Given the description of an element on the screen output the (x, y) to click on. 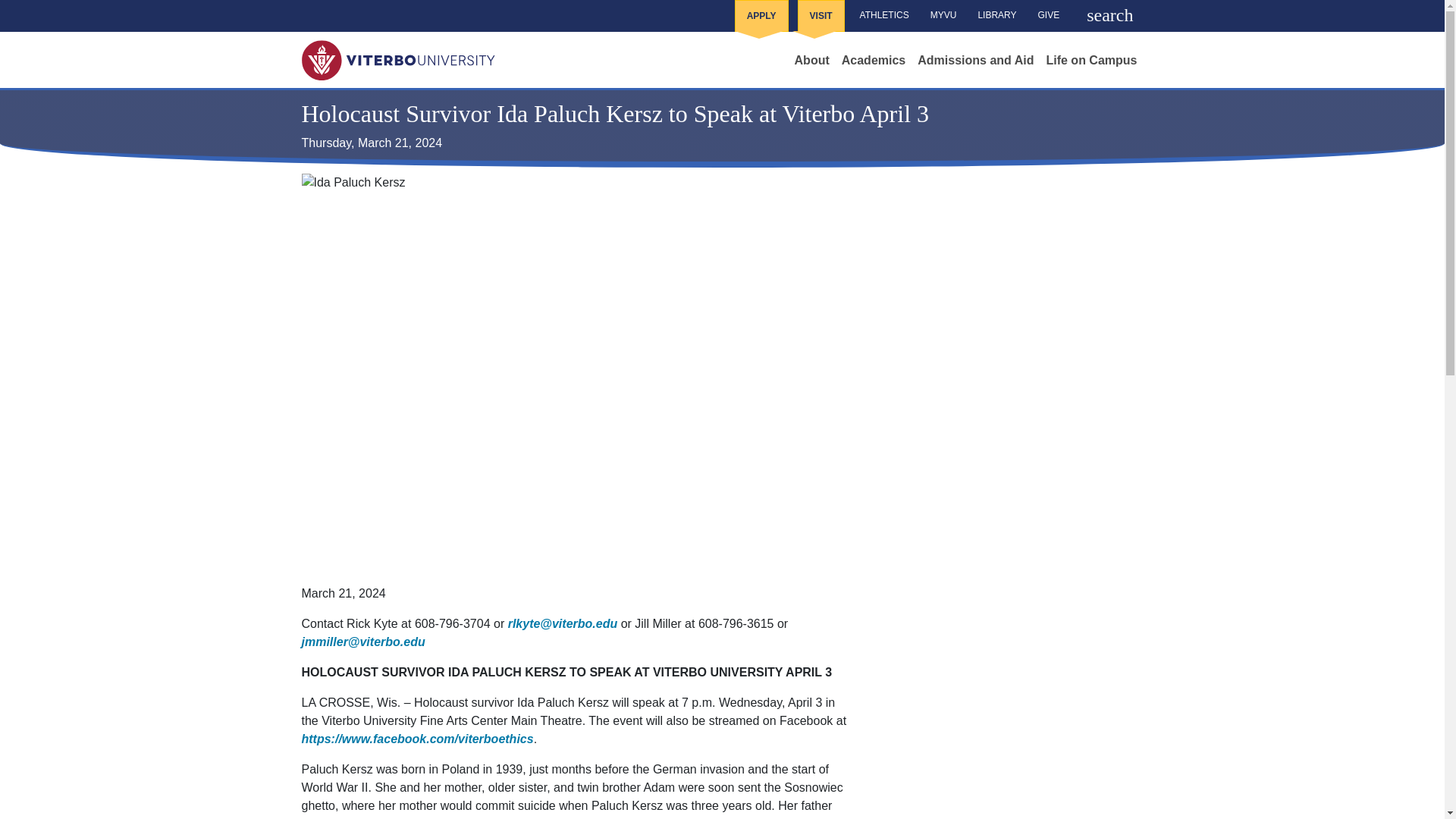
Academics (873, 60)
About (812, 60)
VISIT (820, 15)
MYVU (943, 15)
search (1107, 15)
GIVE (1048, 15)
Life on Campus (1090, 60)
Admissions and Aid (975, 60)
LIBRARY (996, 15)
ATHLETICS (884, 15)
Home (398, 58)
APPLY (762, 15)
